Given the description of an element on the screen output the (x, y) to click on. 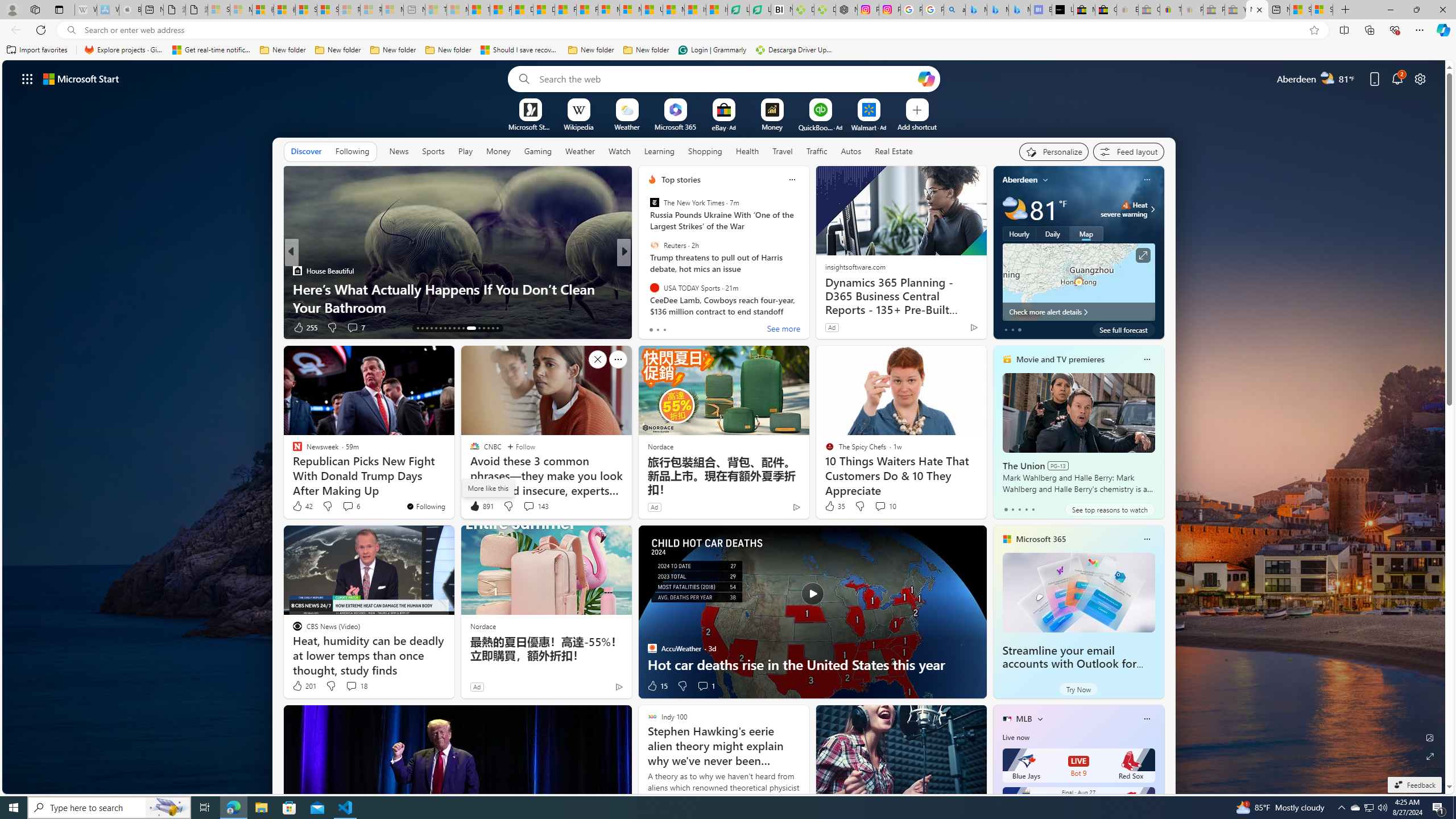
Class: weather-arrow-glyph (1152, 208)
AutomationID: tab-14 (422, 328)
View comments 10 Comment (885, 505)
AutomationID: tab-32 (492, 328)
13 Smells Ants Absolutely Hate (807, 307)
